Given the description of an element on the screen output the (x, y) to click on. 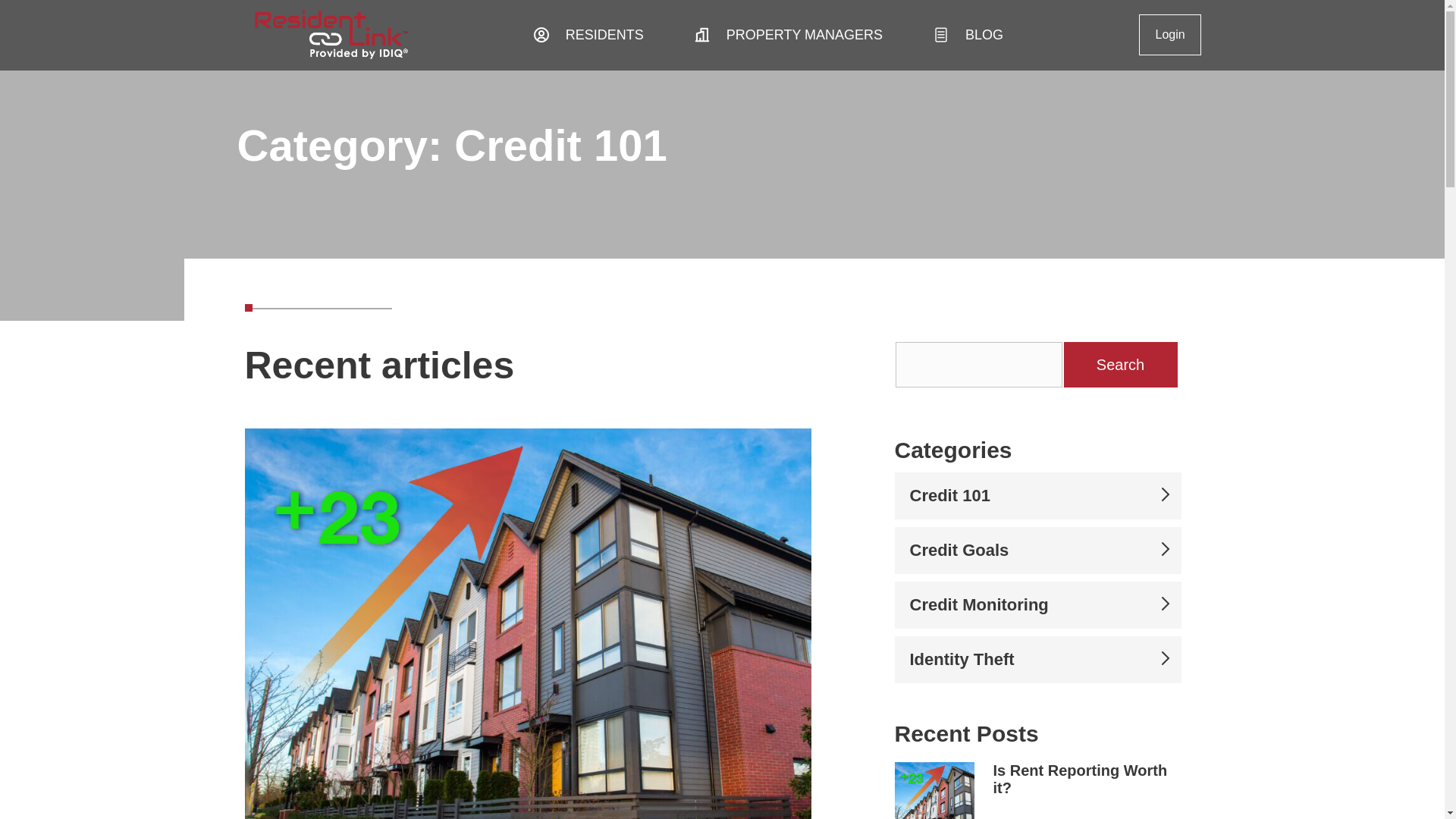
Search (1119, 364)
RESIDENTS (630, 35)
Is Rent Reporting Worth it? (1079, 779)
Search (1119, 364)
Credit Monitoring (1037, 604)
BLOG (1009, 35)
Credit Goals (1037, 550)
Credit 101 (1037, 495)
PROPERTY MANAGERS (829, 35)
Login (1169, 34)
Identity Theft (1037, 659)
